Given the description of an element on the screen output the (x, y) to click on. 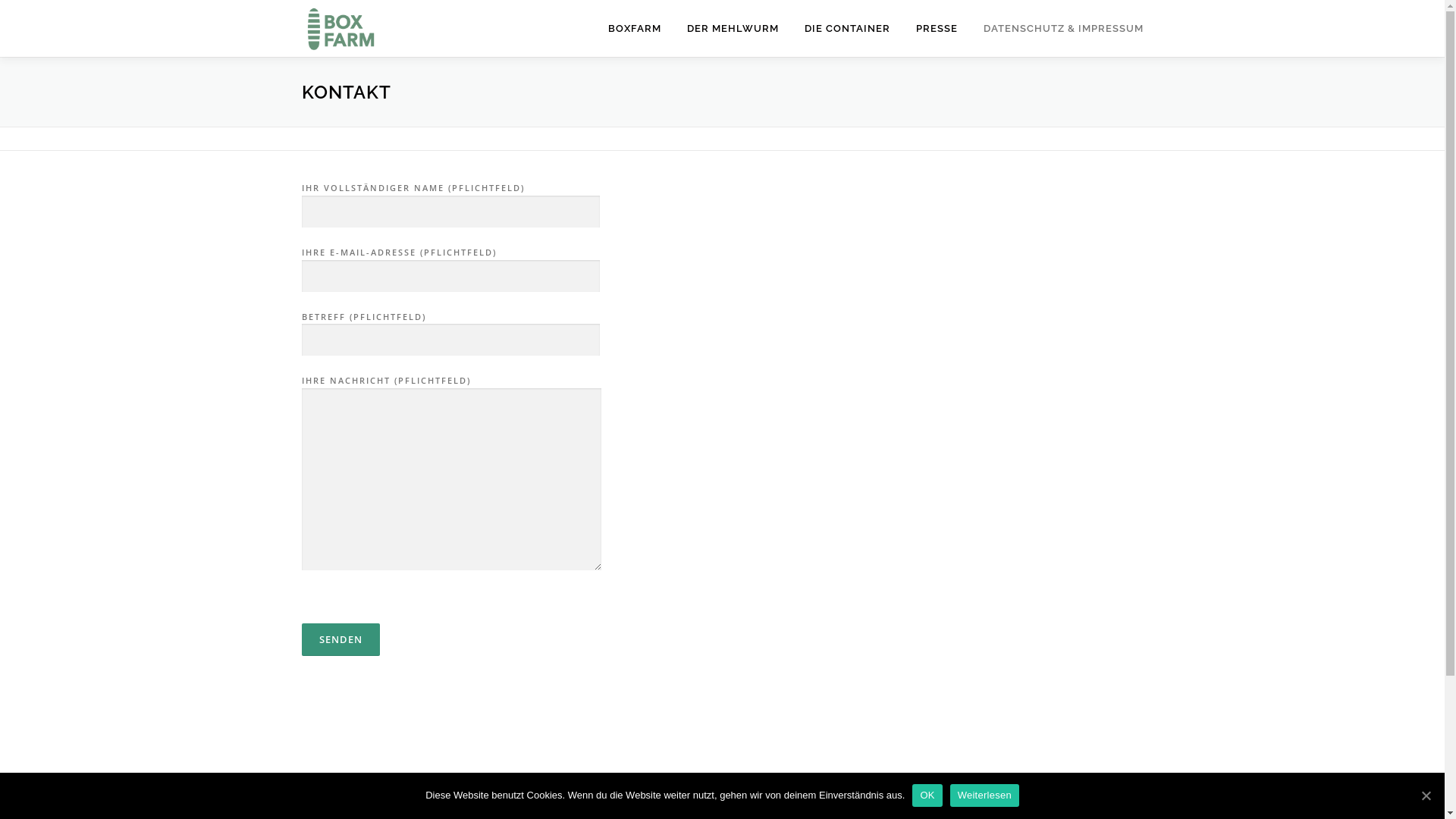
BOXFARM Element type: text (633, 28)
Senden Element type: text (340, 639)
Weiterlesen Element type: text (984, 795)
DER MEHLWURM Element type: text (731, 28)
PRESSE Element type: text (935, 28)
DATENSCHUTZ & IMPRESSUM Element type: text (1056, 28)
Zum Inhalt springen Element type: text (51, 9)
OK Element type: text (926, 795)
DIE CONTAINER Element type: text (847, 28)
